Given the description of an element on the screen output the (x, y) to click on. 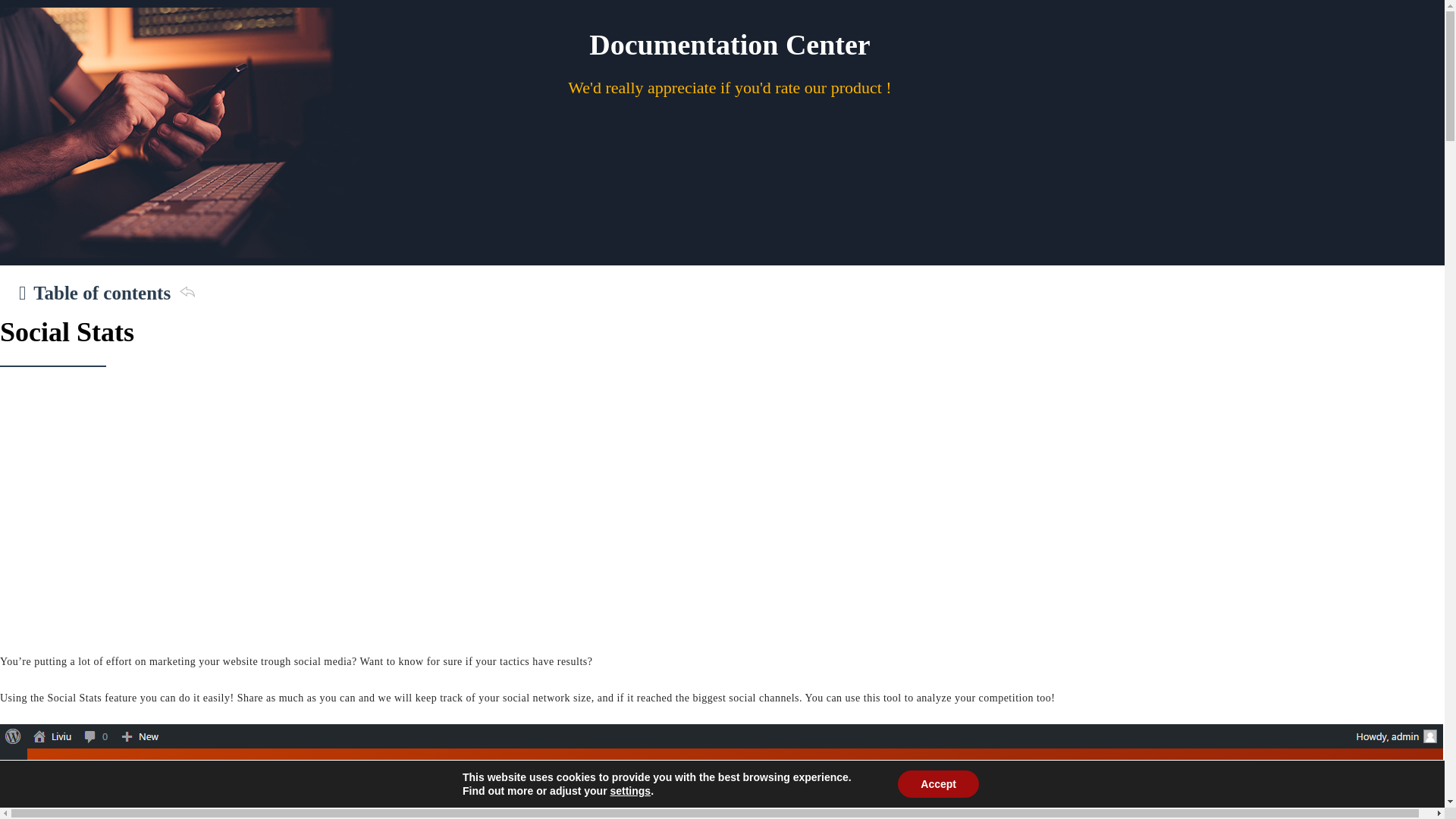
Accept (938, 783)
Table of contents (106, 292)
